Given the description of an element on the screen output the (x, y) to click on. 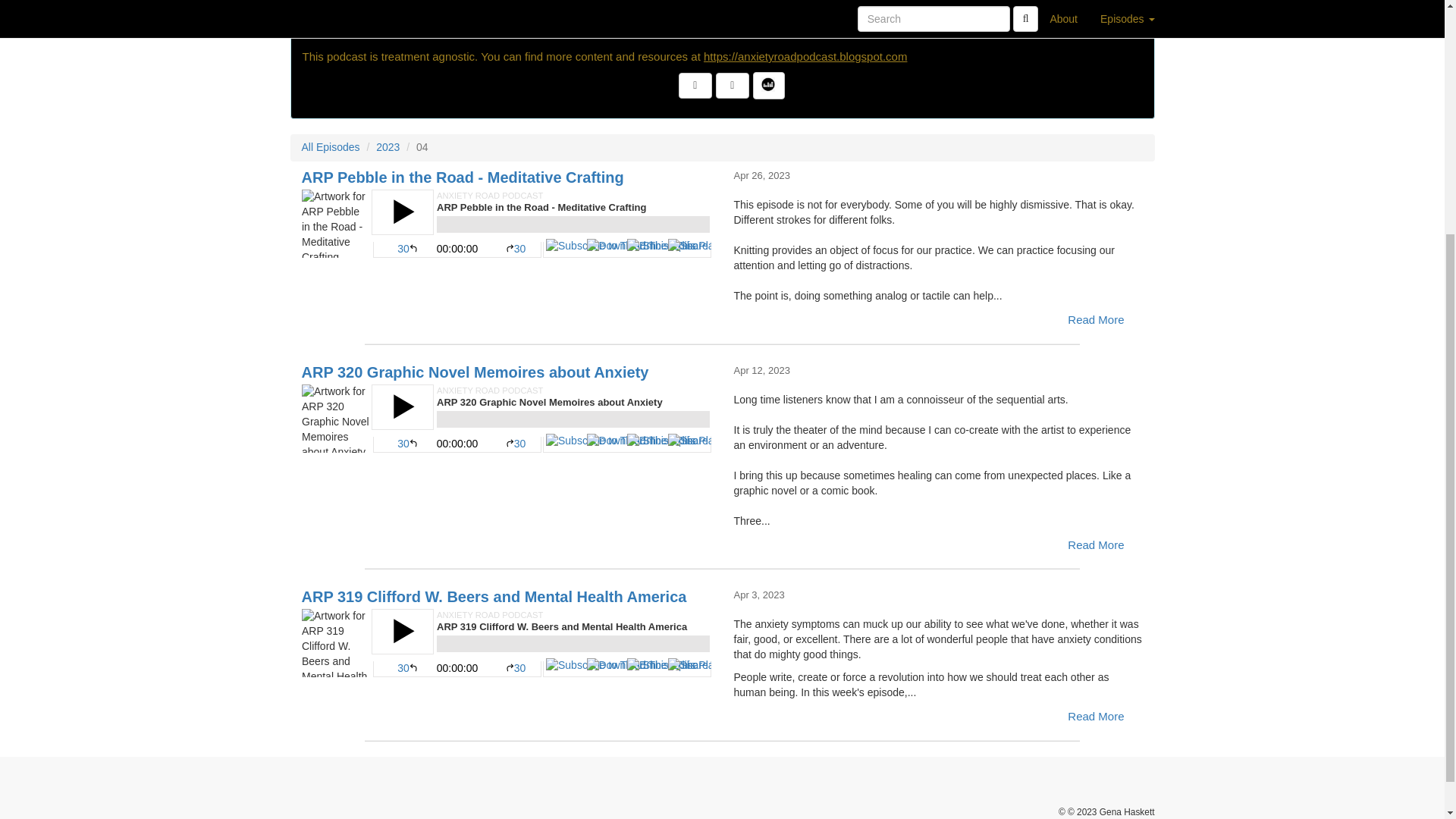
ARP 320 Graphic Novel Memoires about Anxiety (506, 418)
Official Blog of the Anxiety Road Podcast (805, 56)
ARP Pebble in the Road - Meditative Crafting (506, 223)
ARP 319  Clifford W. Beers and Mental Health America (506, 643)
